Given the description of an element on the screen output the (x, y) to click on. 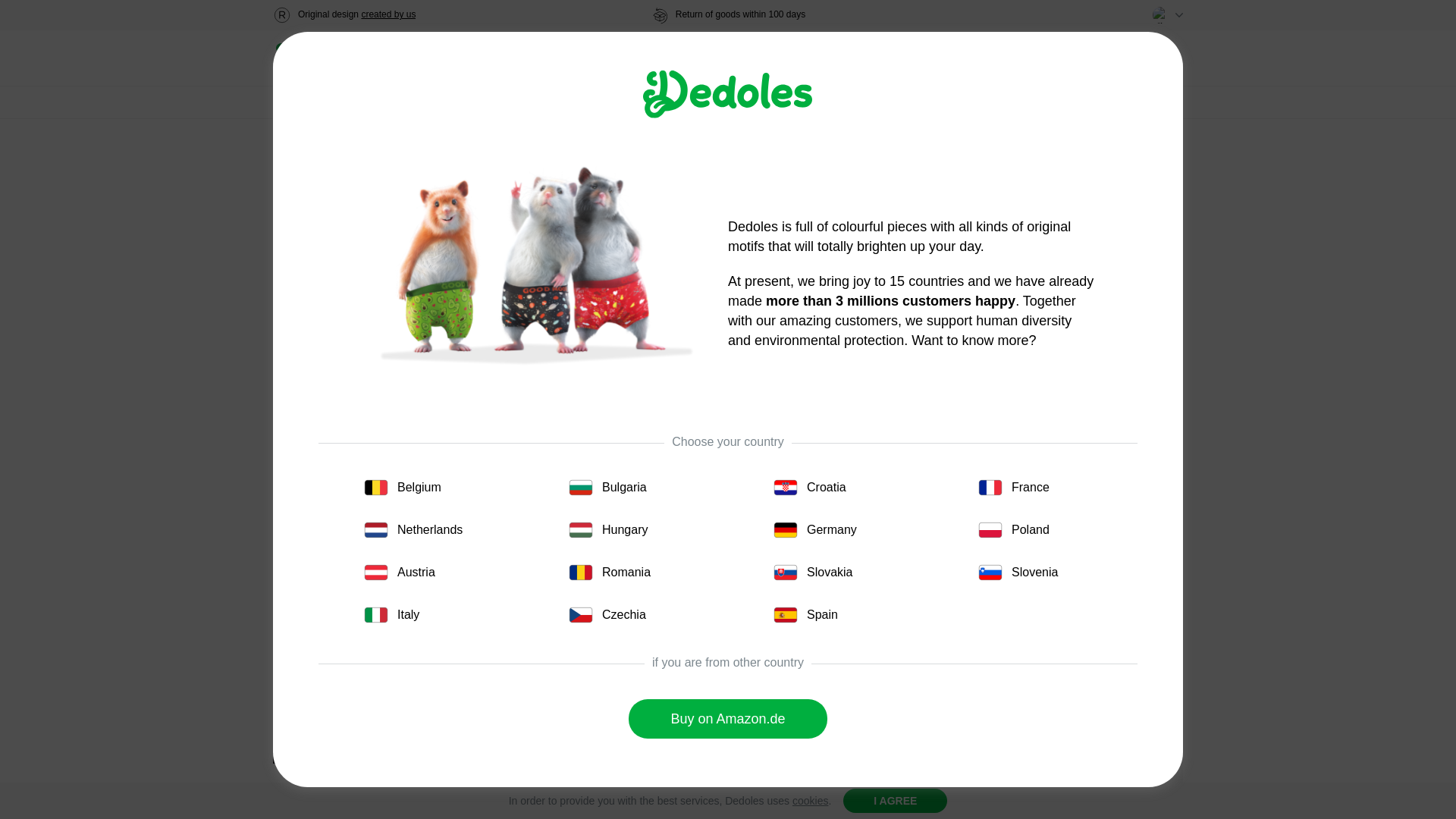
Back to homepage (332, 58)
created by us (387, 14)
www.dedoles.fi (332, 58)
Return of goods within 100 days (727, 15)
Women (450, 58)
